Given the description of an element on the screen output the (x, y) to click on. 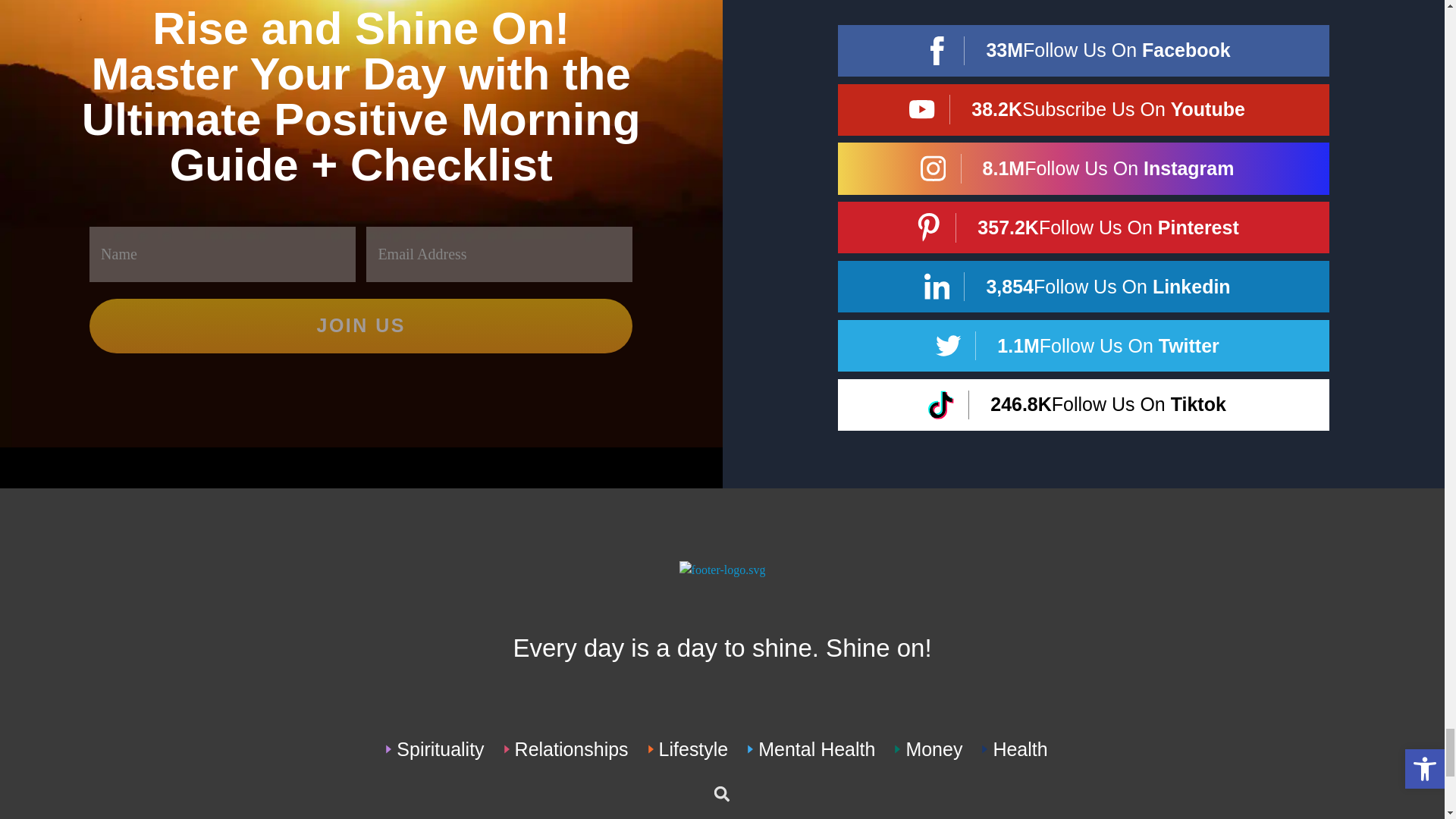
JOIN US (359, 325)
